Given the description of an element on the screen output the (x, y) to click on. 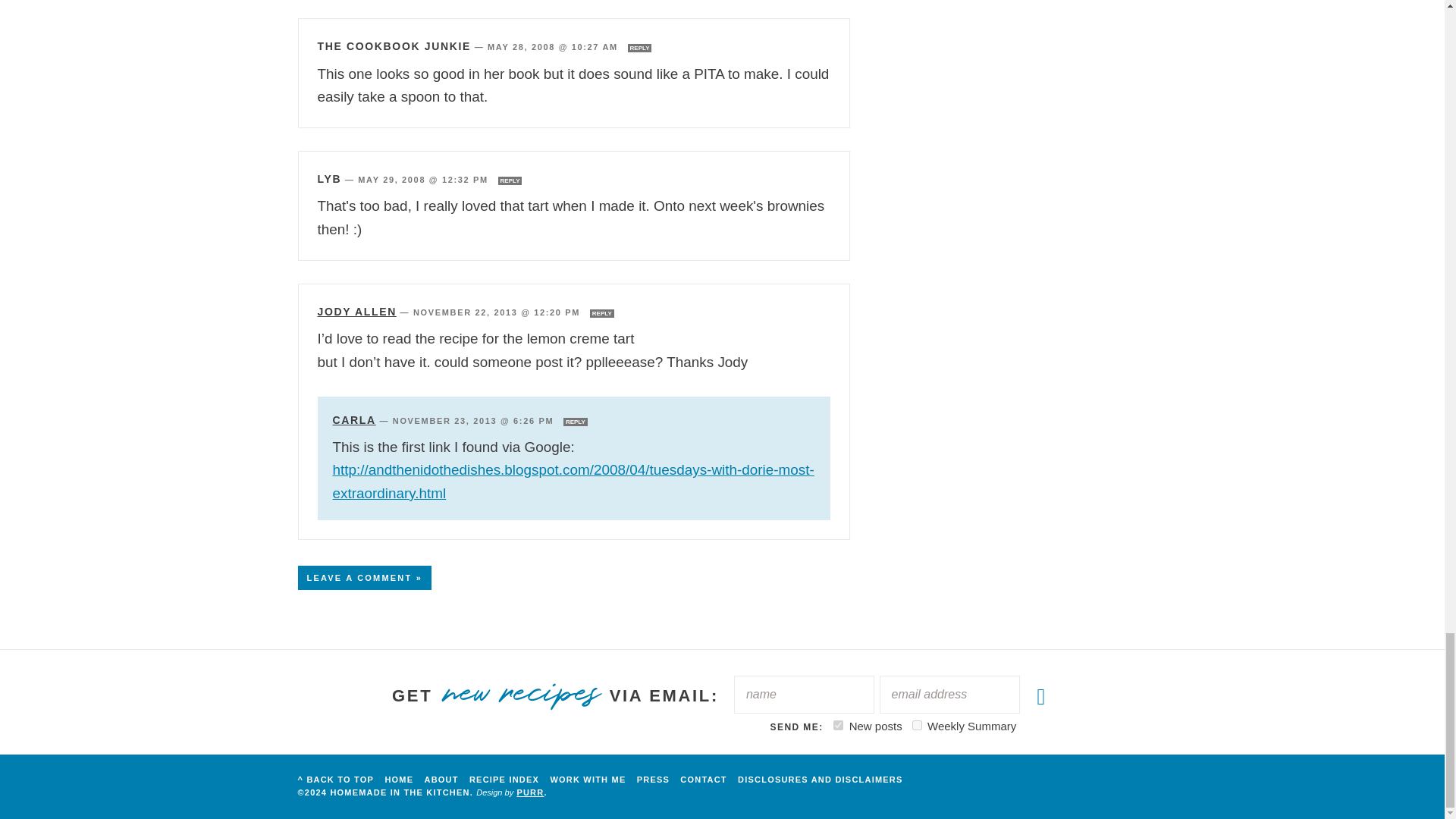
2 (916, 725)
1 (837, 725)
